Given the description of an element on the screen output the (x, y) to click on. 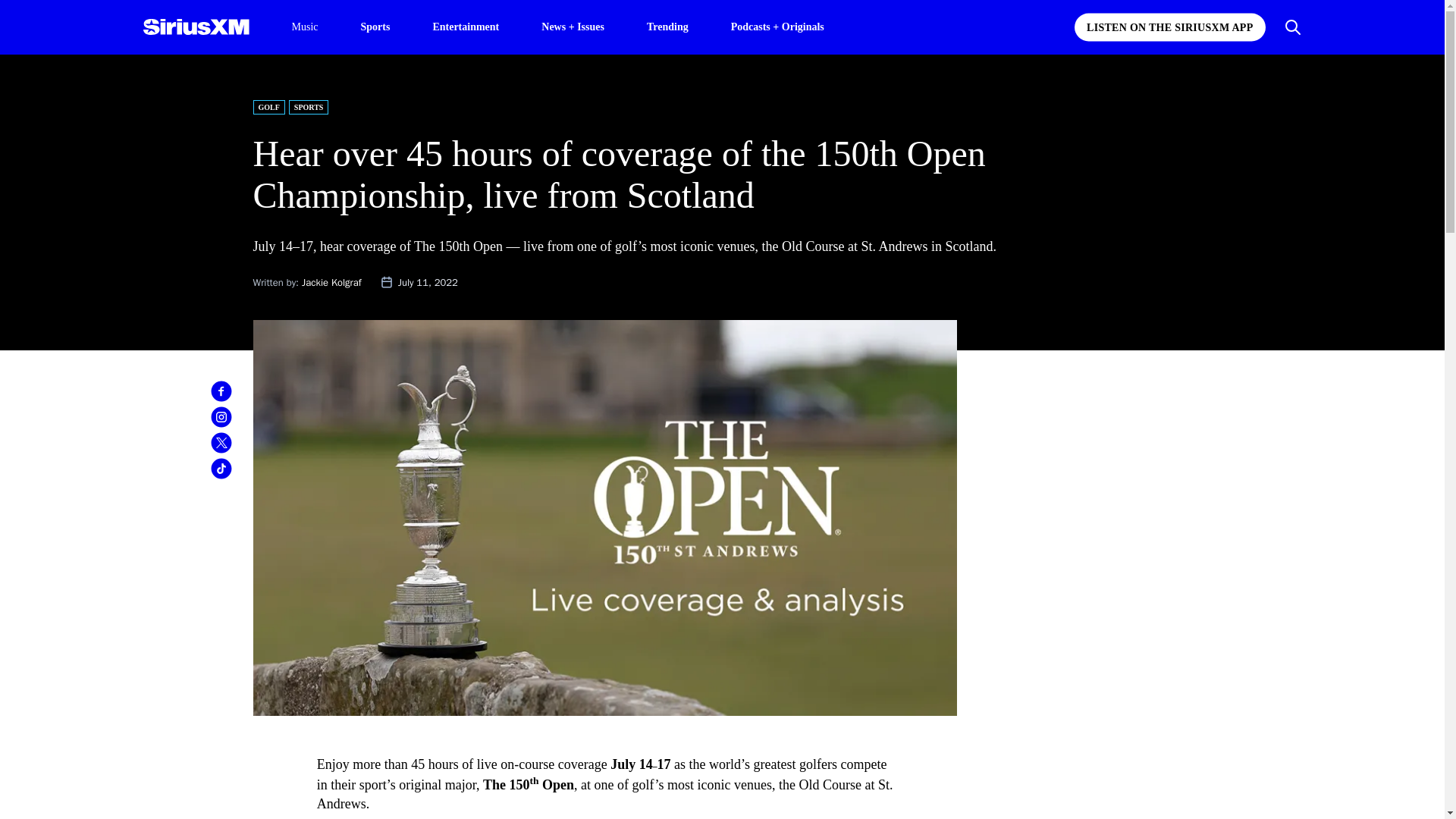
Music (304, 26)
GOLF (269, 106)
Jackie Kolgraf (331, 282)
LISTEN ON THE SIRIUSXM APP (1169, 27)
Entertainment (465, 26)
Trending (667, 26)
Sports (375, 26)
SPORTS (308, 106)
